Given the description of an element on the screen output the (x, y) to click on. 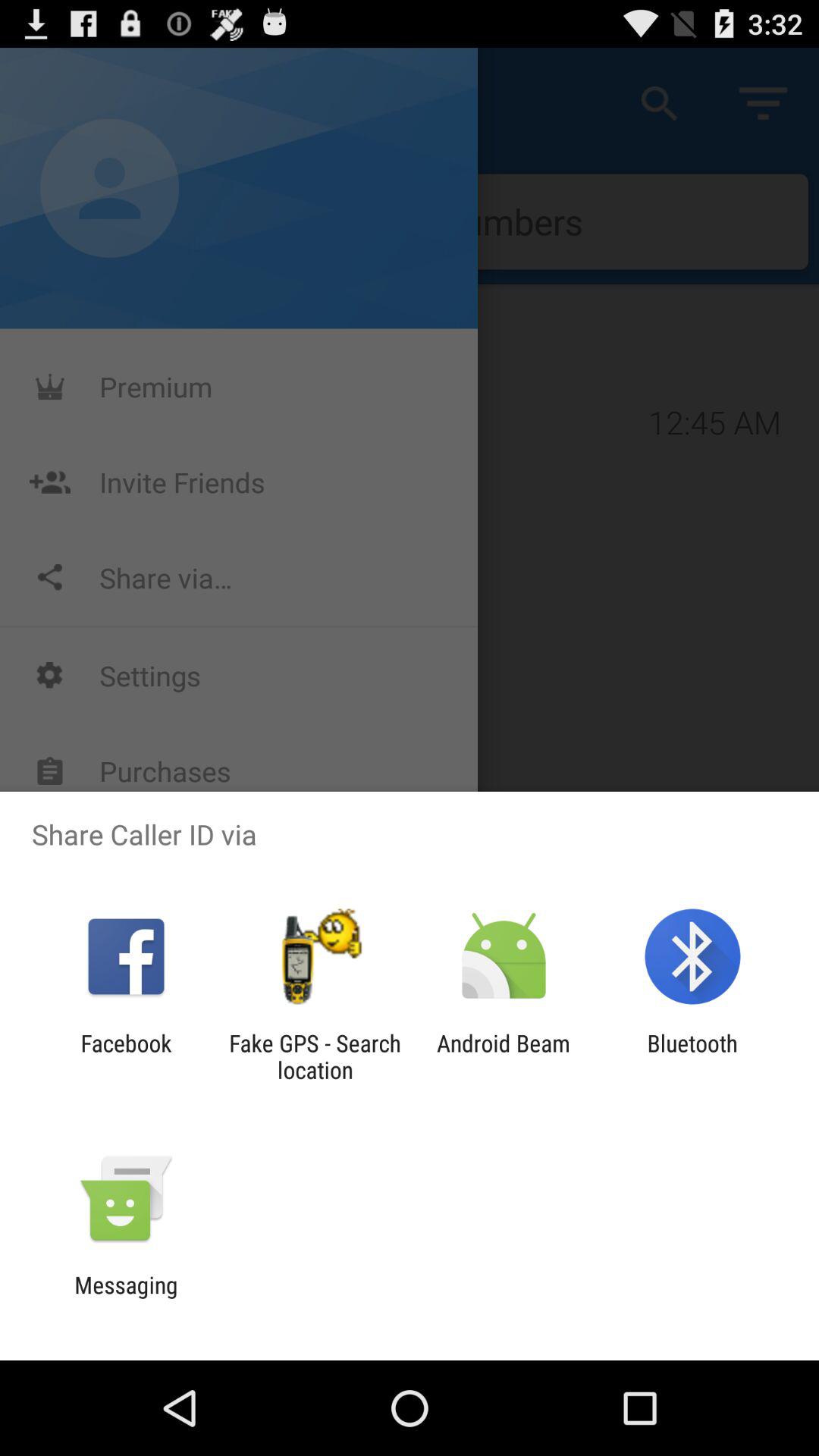
press the app next to the fake gps search icon (503, 1056)
